Given the description of an element on the screen output the (x, y) to click on. 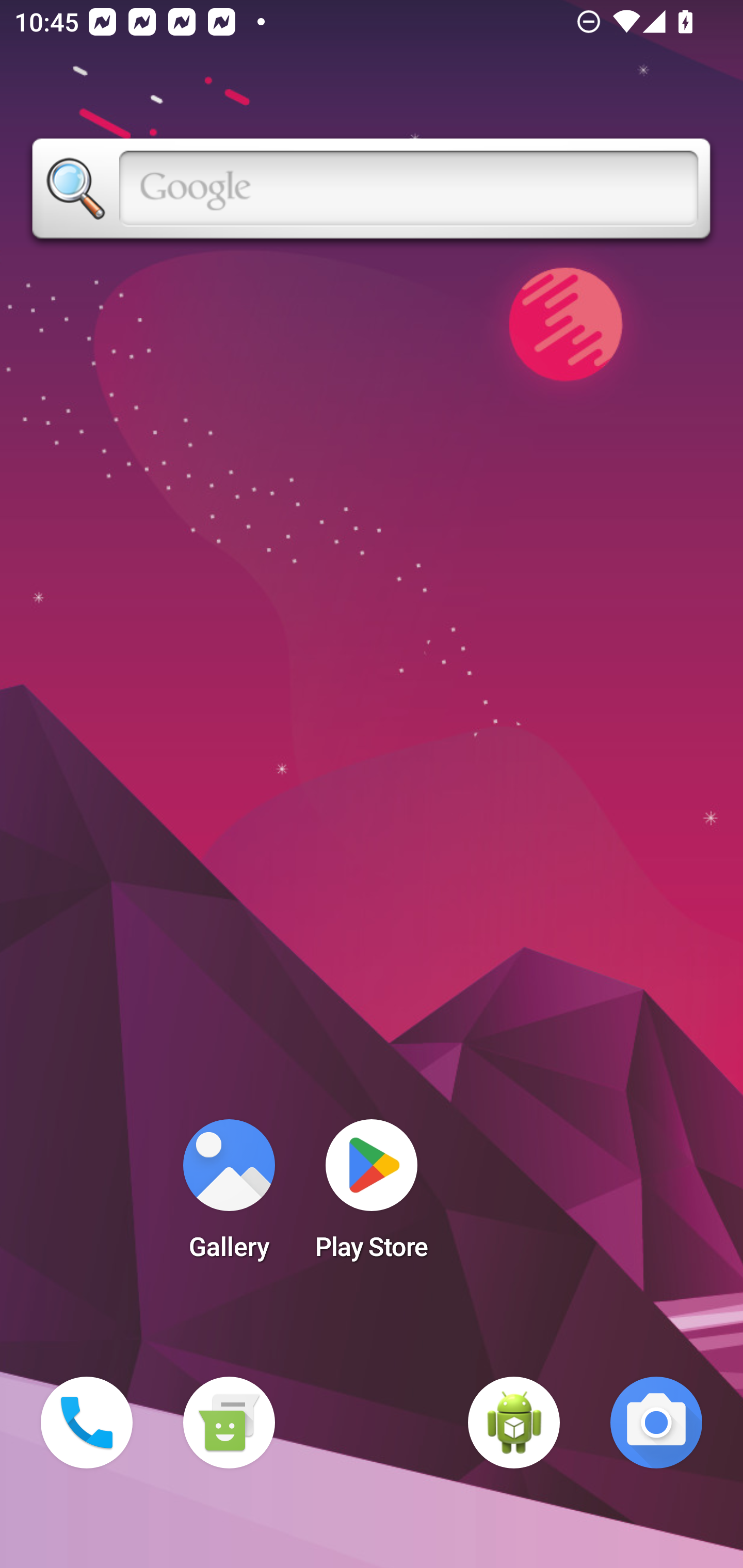
Gallery (228, 1195)
Play Store (371, 1195)
Phone (86, 1422)
Messaging (228, 1422)
WebView Browser Tester (513, 1422)
Camera (656, 1422)
